Given the description of an element on the screen output the (x, y) to click on. 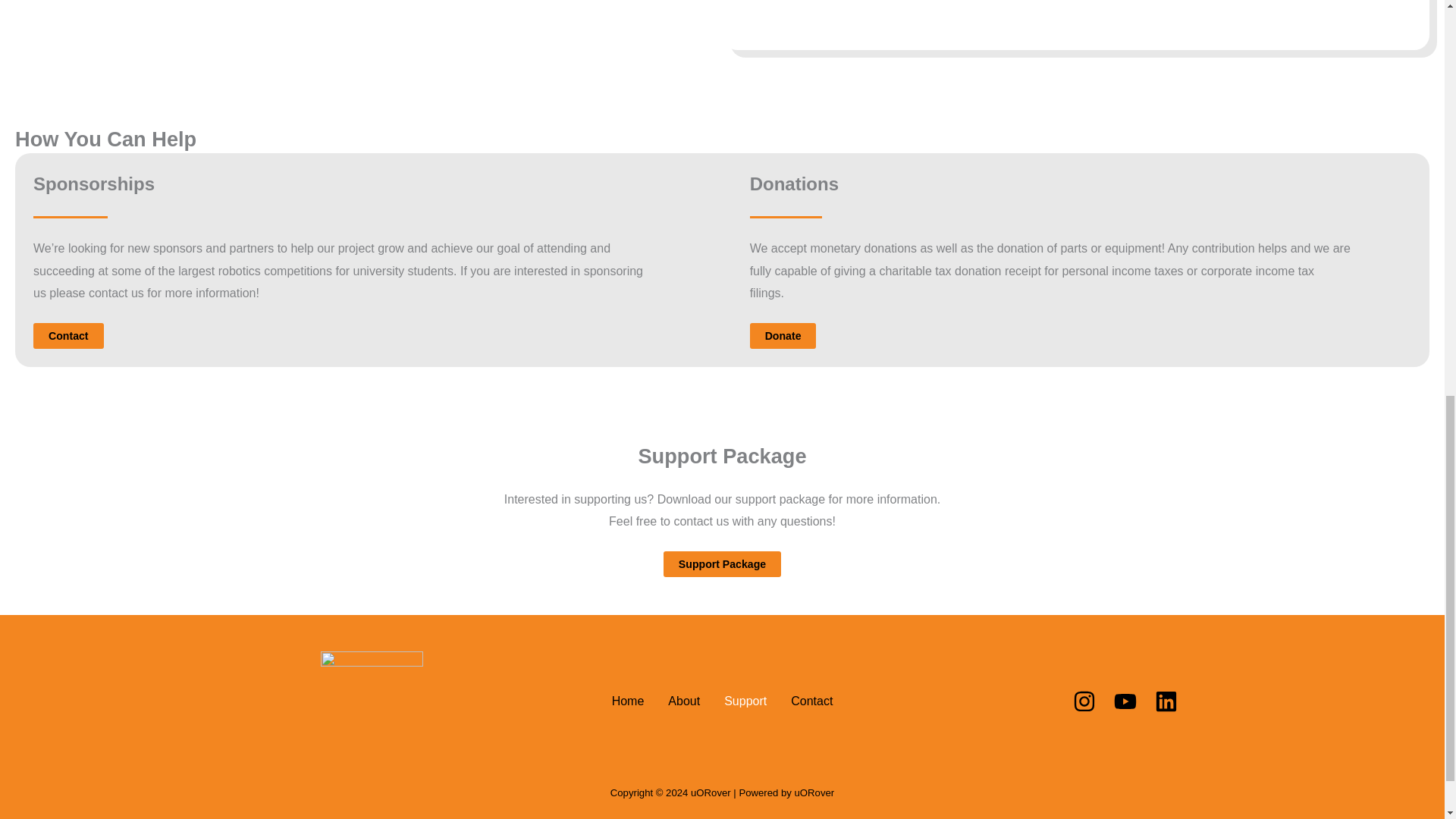
Support Package (721, 564)
Donate (782, 335)
Contact (68, 335)
Home (627, 701)
